Given the description of an element on the screen output the (x, y) to click on. 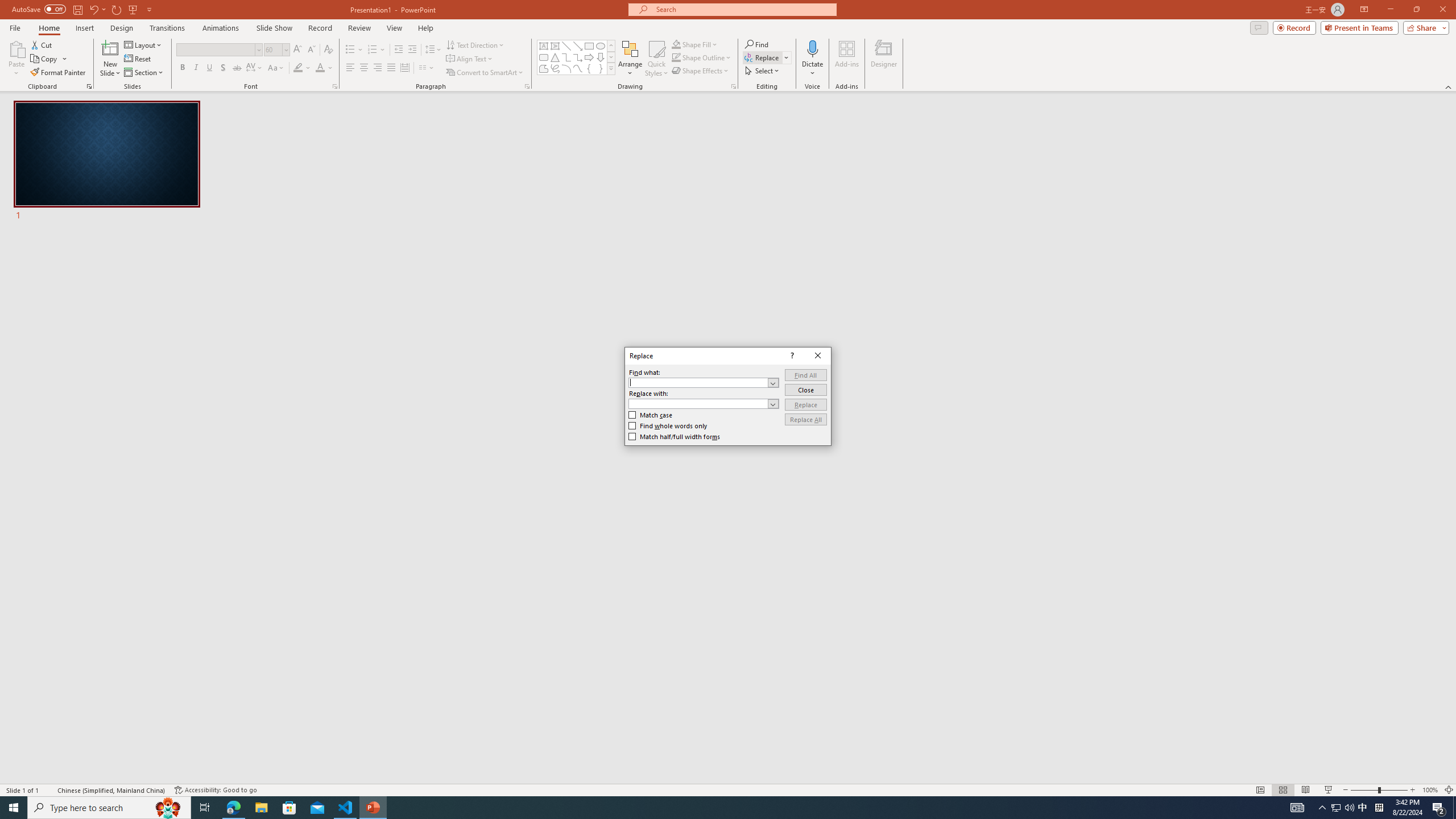
Shape Outline (1335, 807)
Format Object... (701, 56)
Q2790: 100% (733, 85)
User Promoted Notification Area (1349, 807)
Shapes (1342, 807)
Text Direction (611, 68)
Bold (476, 44)
Arrow: Down (182, 67)
Convert to SmartArt (600, 57)
